Given the description of an element on the screen output the (x, y) to click on. 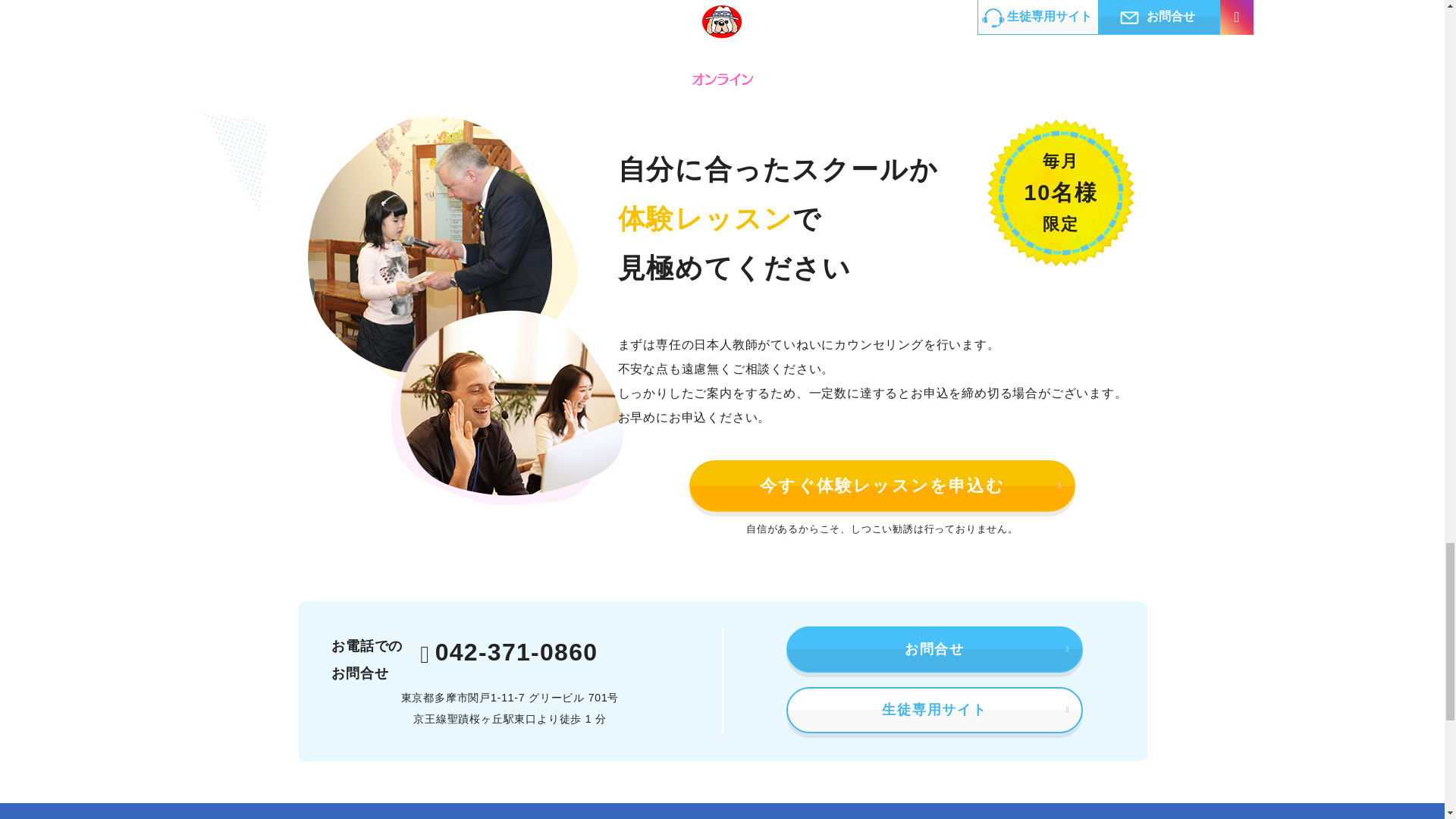
042-371-0860 (508, 652)
